Given the description of an element on the screen output the (x, y) to click on. 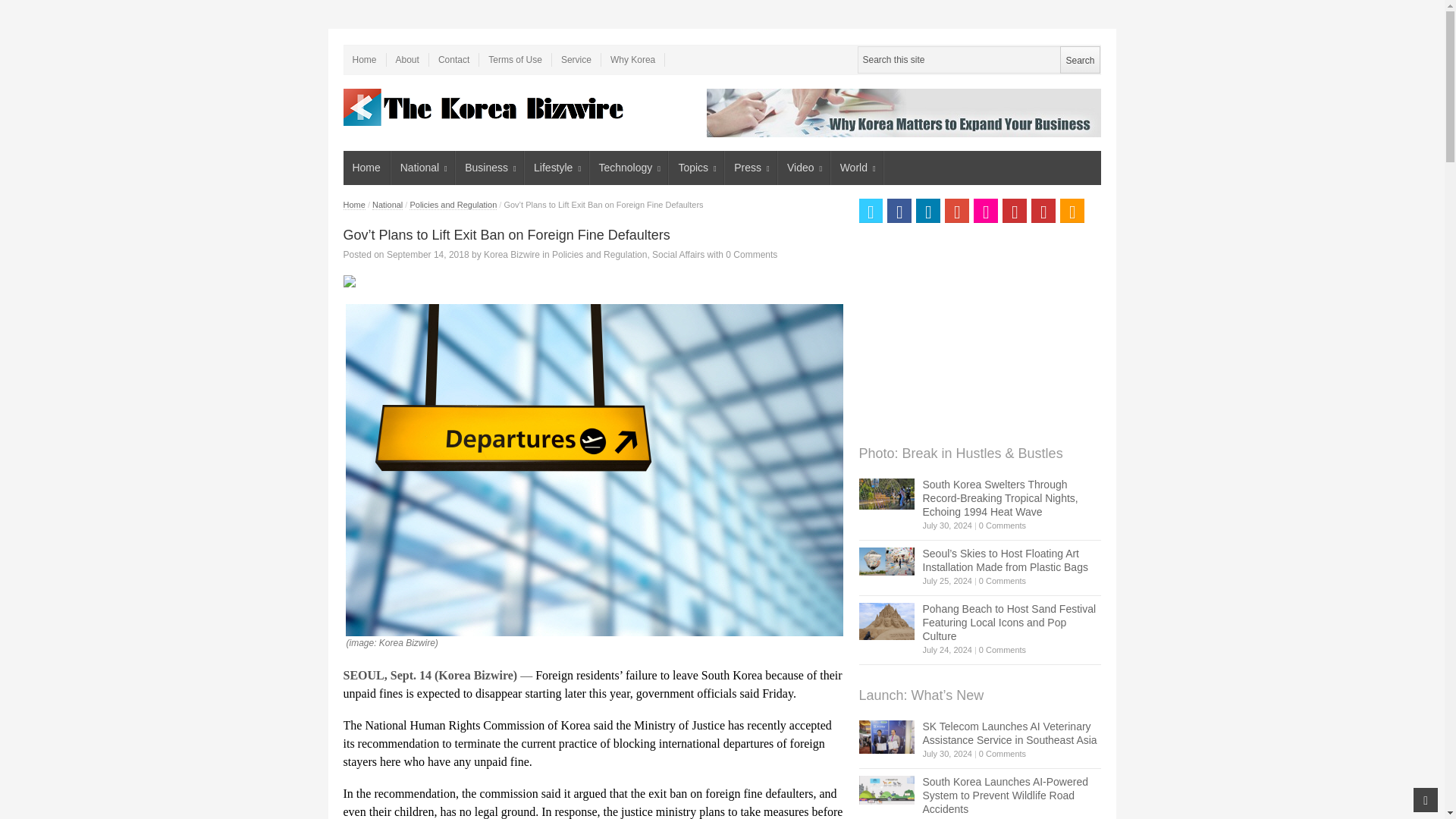
Print page (592, 281)
Why Korea (633, 59)
About (408, 59)
View all posts in National (387, 204)
Search (1079, 59)
Search this site (978, 59)
Home (363, 59)
View all posts by Korea Bizwire (511, 254)
View all posts in Social Affairs (678, 254)
Service (576, 59)
Home (366, 167)
Be Korea-savvy (484, 107)
View all posts in Policies and Regulation (598, 254)
Business (489, 167)
National (422, 167)
